Given the description of an element on the screen output the (x, y) to click on. 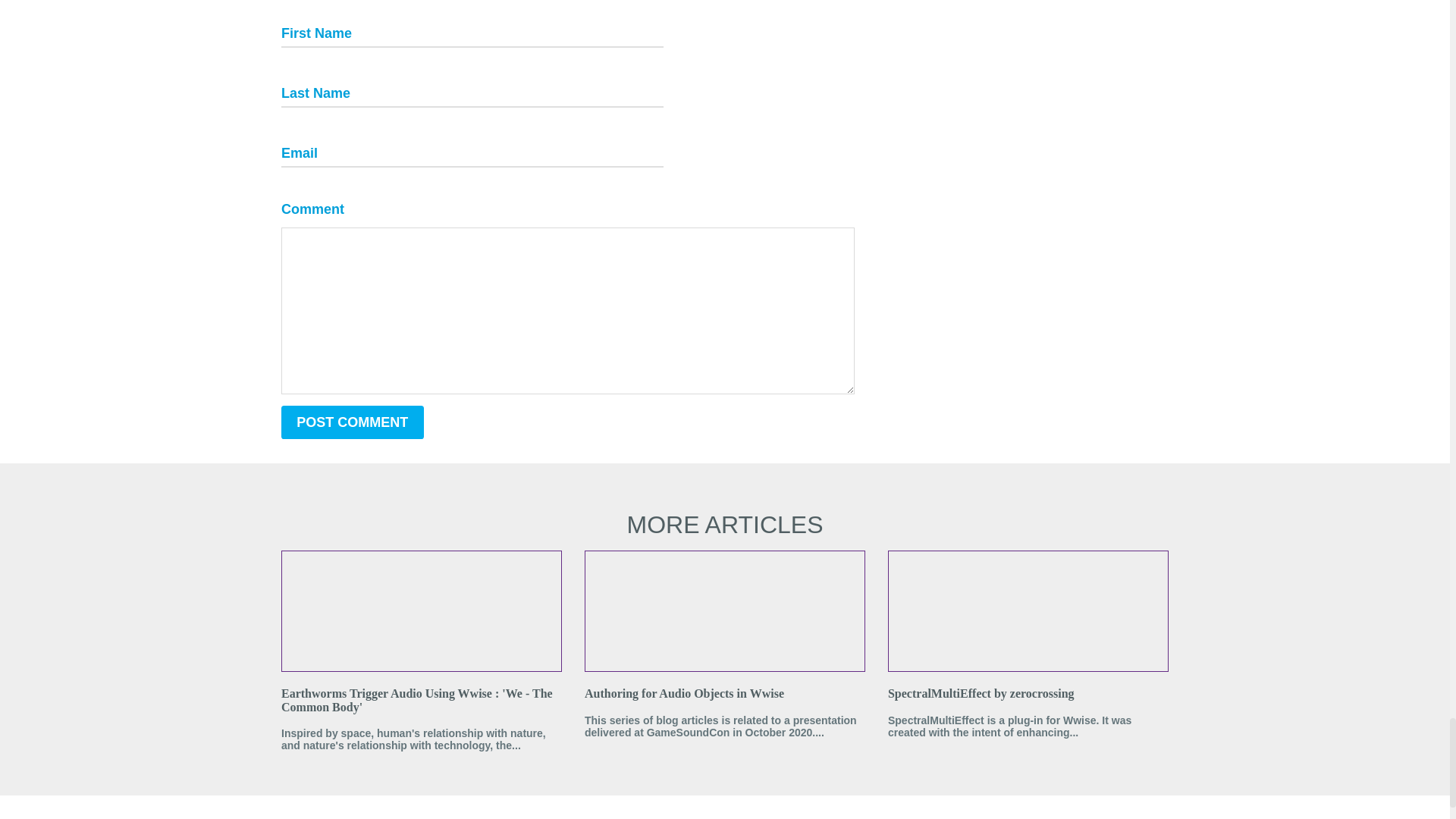
POST COMMENT (352, 421)
Authoring for Audio Objects in Wwise (724, 694)
SpectralMultiEffect by zerocrossing (1028, 694)
